Given the description of an element on the screen output the (x, y) to click on. 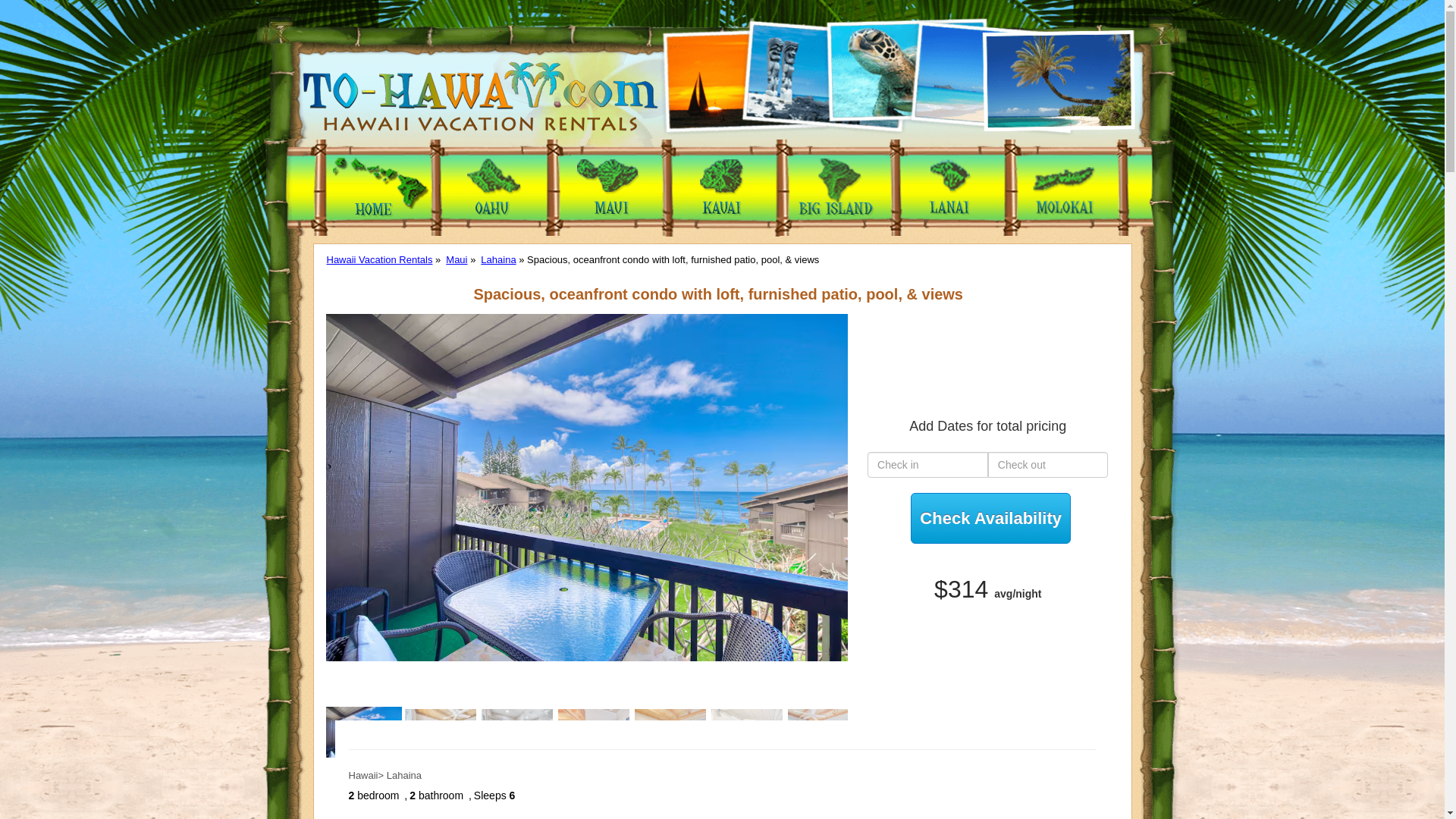
Lahaina (497, 259)
Check Availability (990, 518)
Hawaii Vacation Rentals (379, 259)
Maui (456, 259)
